Given the description of an element on the screen output the (x, y) to click on. 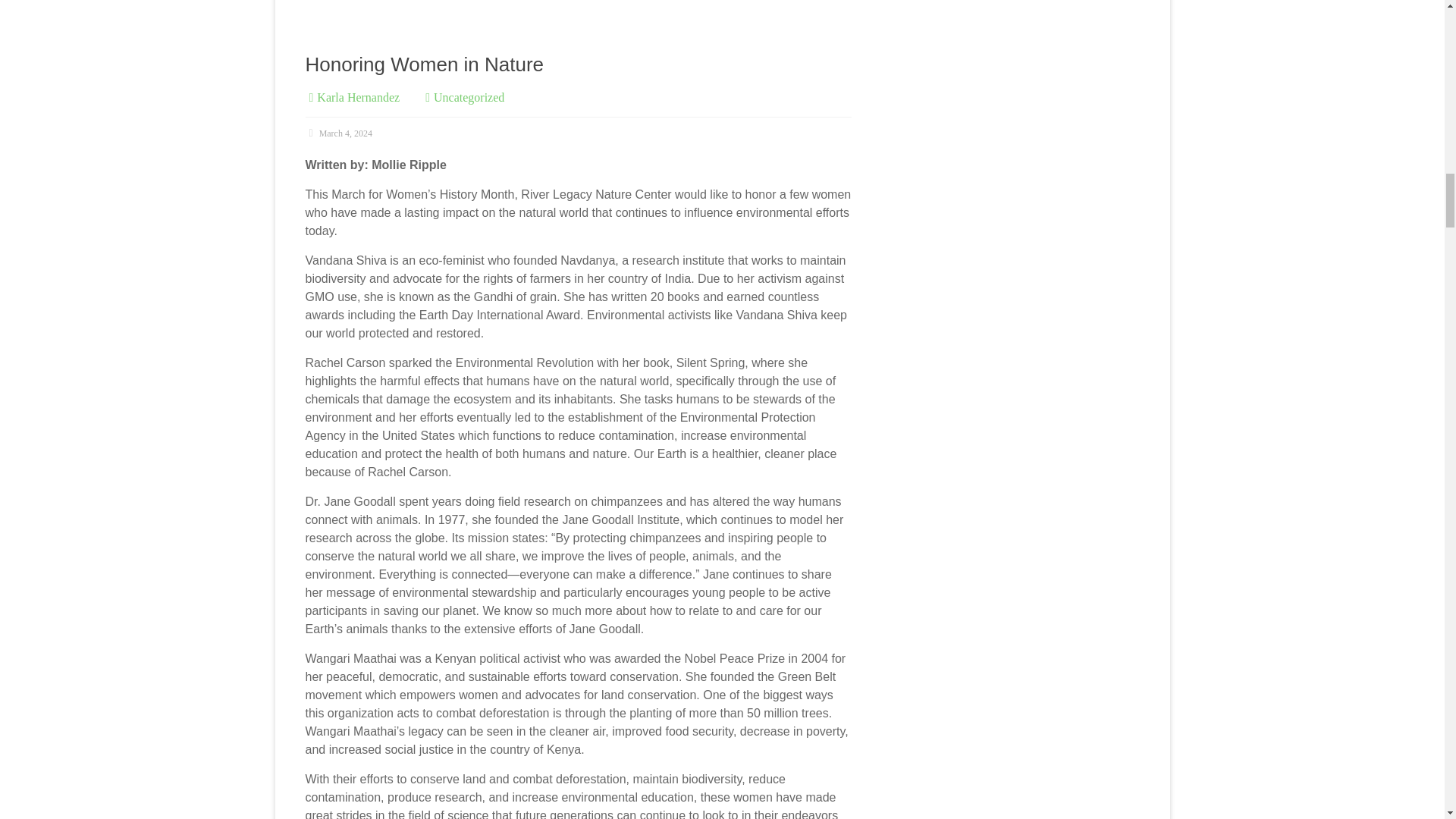
Honoring Women in Nature (423, 64)
March 4, 2024 (337, 132)
Karla Hernandez (357, 97)
Uncategorized (468, 97)
4:28 pm (337, 132)
Honoring Women in Nature (423, 64)
Karla Hernandez (357, 97)
